Given the description of an element on the screen output the (x, y) to click on. 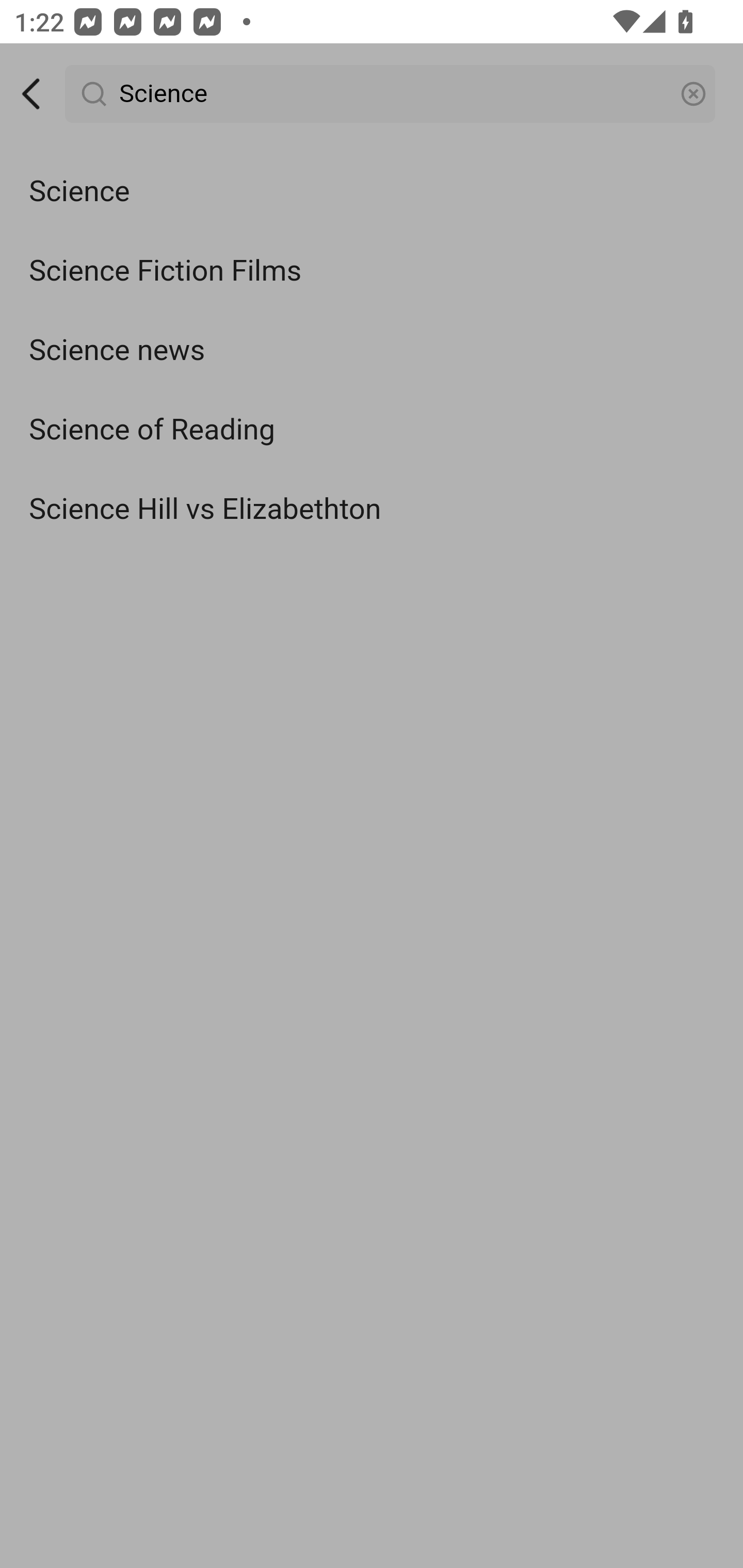
Science (390, 93)
Science (371, 192)
Science Fiction Films (371, 270)
Science news (371, 351)
Science of Reading (371, 430)
Science Hill vs Elizabethton (371, 508)
